Given the description of an element on the screen output the (x, y) to click on. 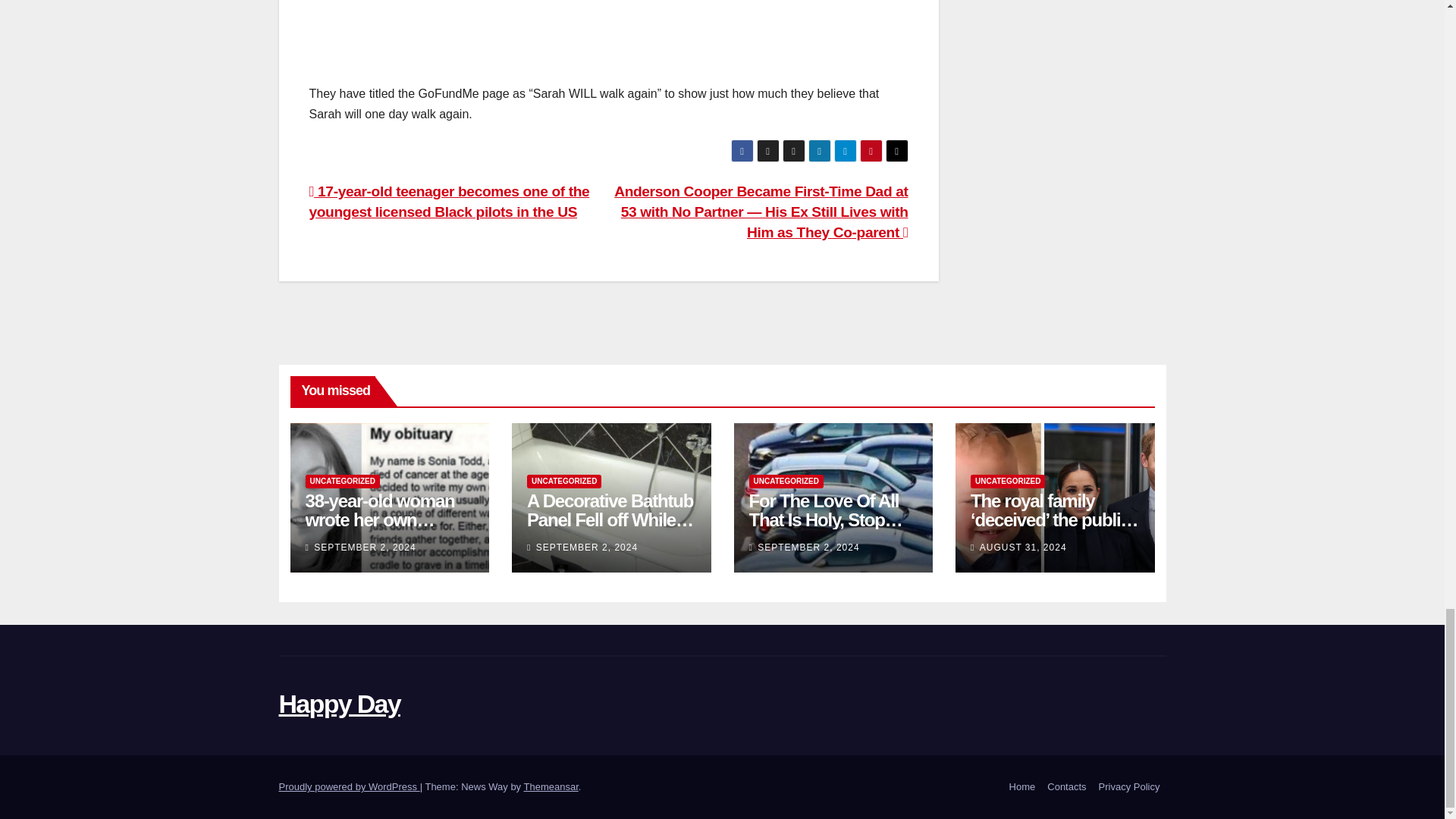
UNCATEGORIZED (564, 481)
UNCATEGORIZED (341, 481)
Home (1022, 786)
UNCATEGORIZED (786, 481)
SEPTEMBER 2, 2024 (586, 547)
SEPTEMBER 2, 2024 (364, 547)
